Given the description of an element on the screen output the (x, y) to click on. 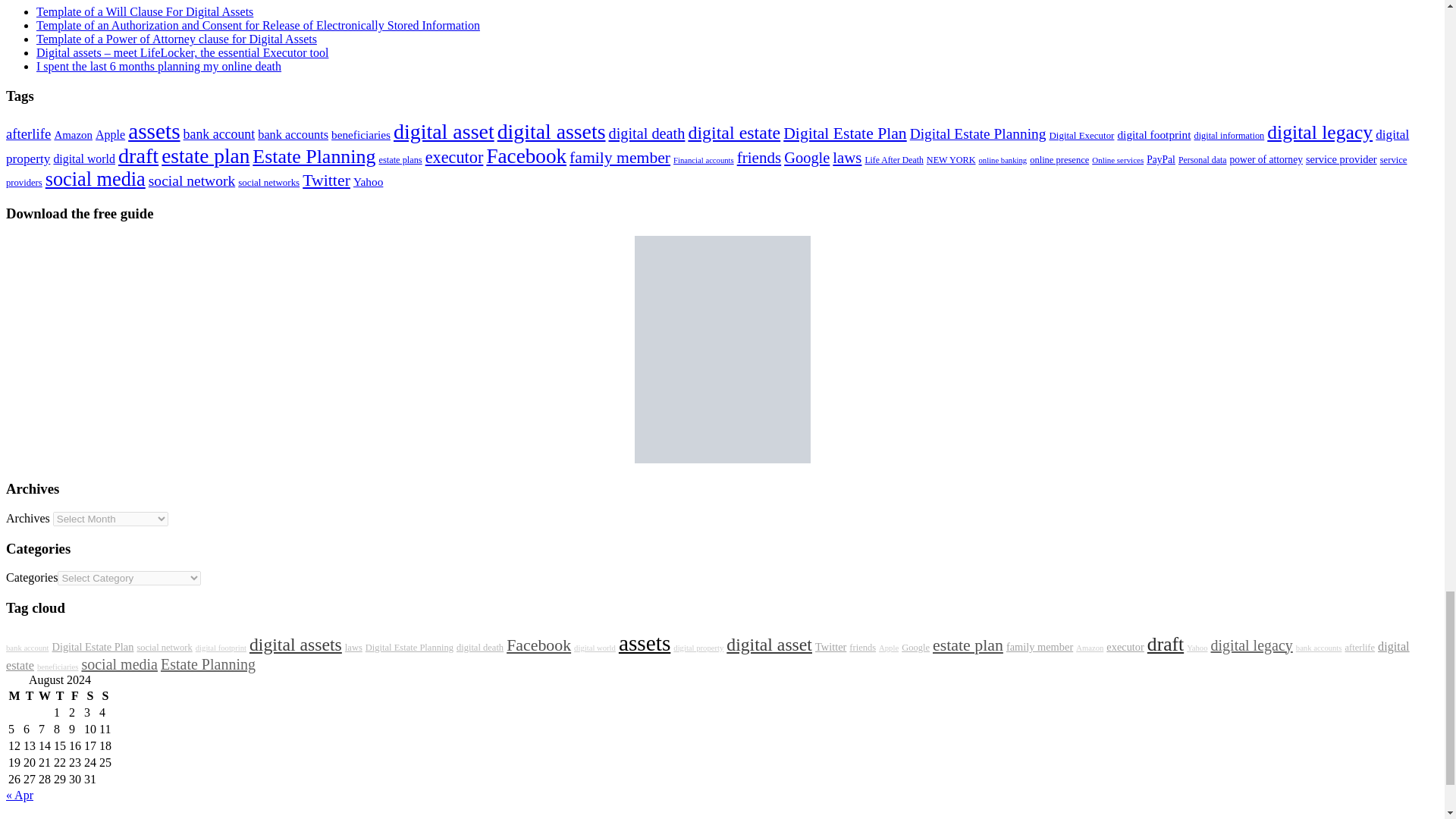
171 topics (92, 646)
I spent the last 6 months planning my online death (158, 65)
Template of a Will Clause For Digital Assets (144, 11)
Template of a Will Clause For Digital Assets (144, 11)
Template of a Power of Attorney clause for Digital Assets (176, 38)
96 topics (27, 647)
